Given the description of an element on the screen output the (x, y) to click on. 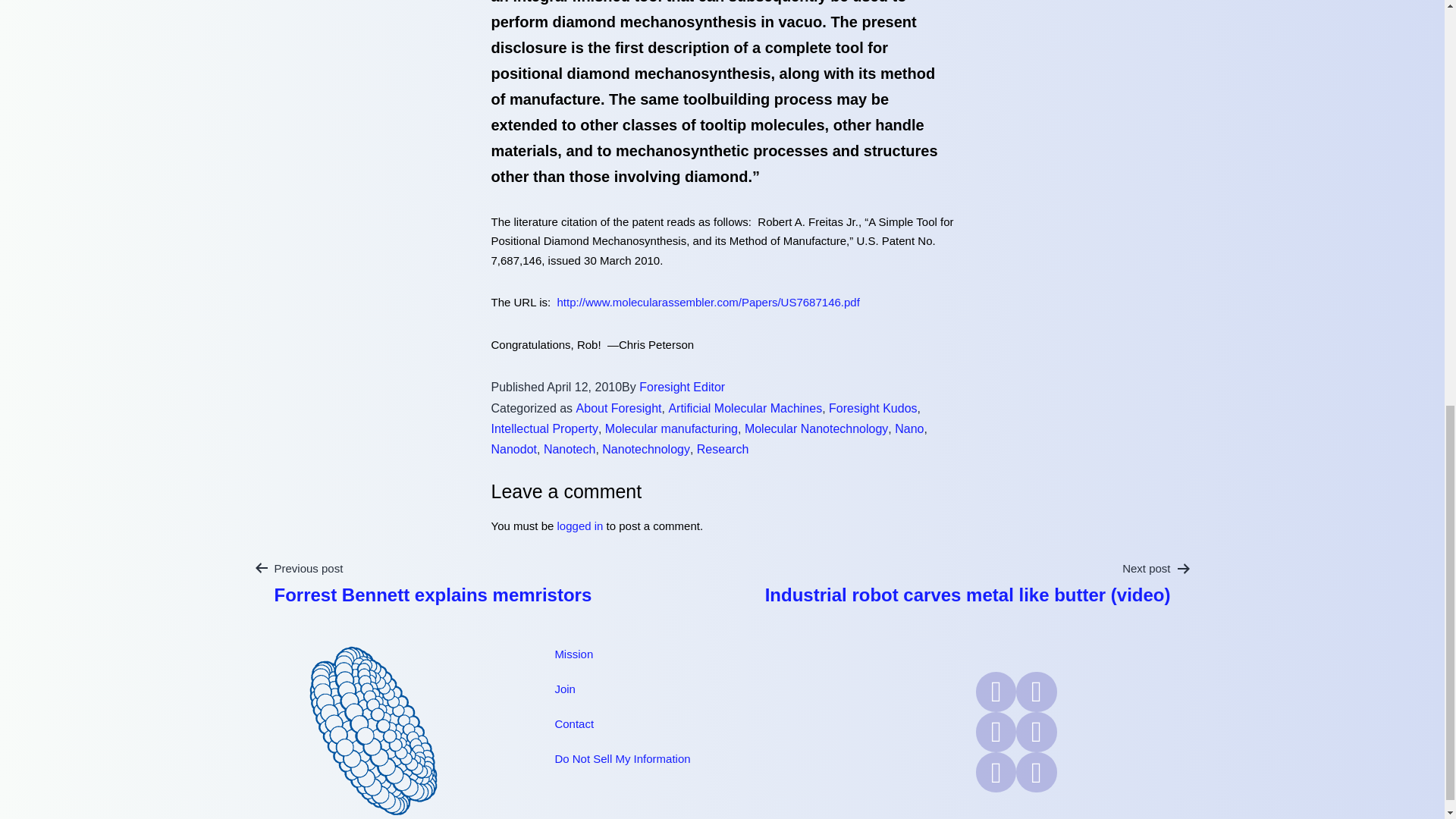
Intellectual Property (545, 428)
Foresight Editor (682, 386)
About Foresight (619, 408)
Artificial Molecular Machines (745, 408)
Foresight Kudos (872, 408)
